Given the description of an element on the screen output the (x, y) to click on. 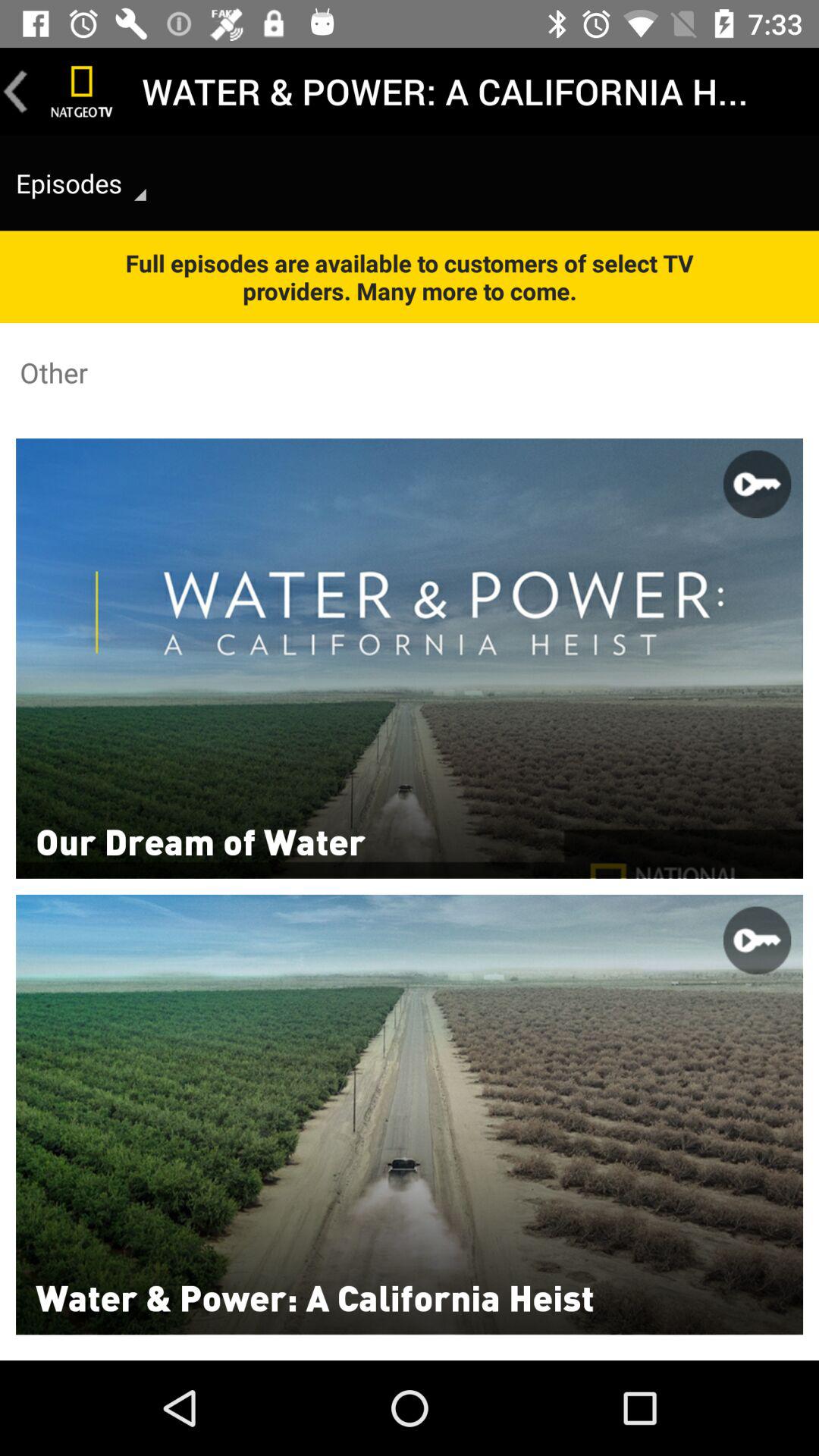
select the icon to the left of the water power a icon (81, 91)
